Given the description of an element on the screen output the (x, y) to click on. 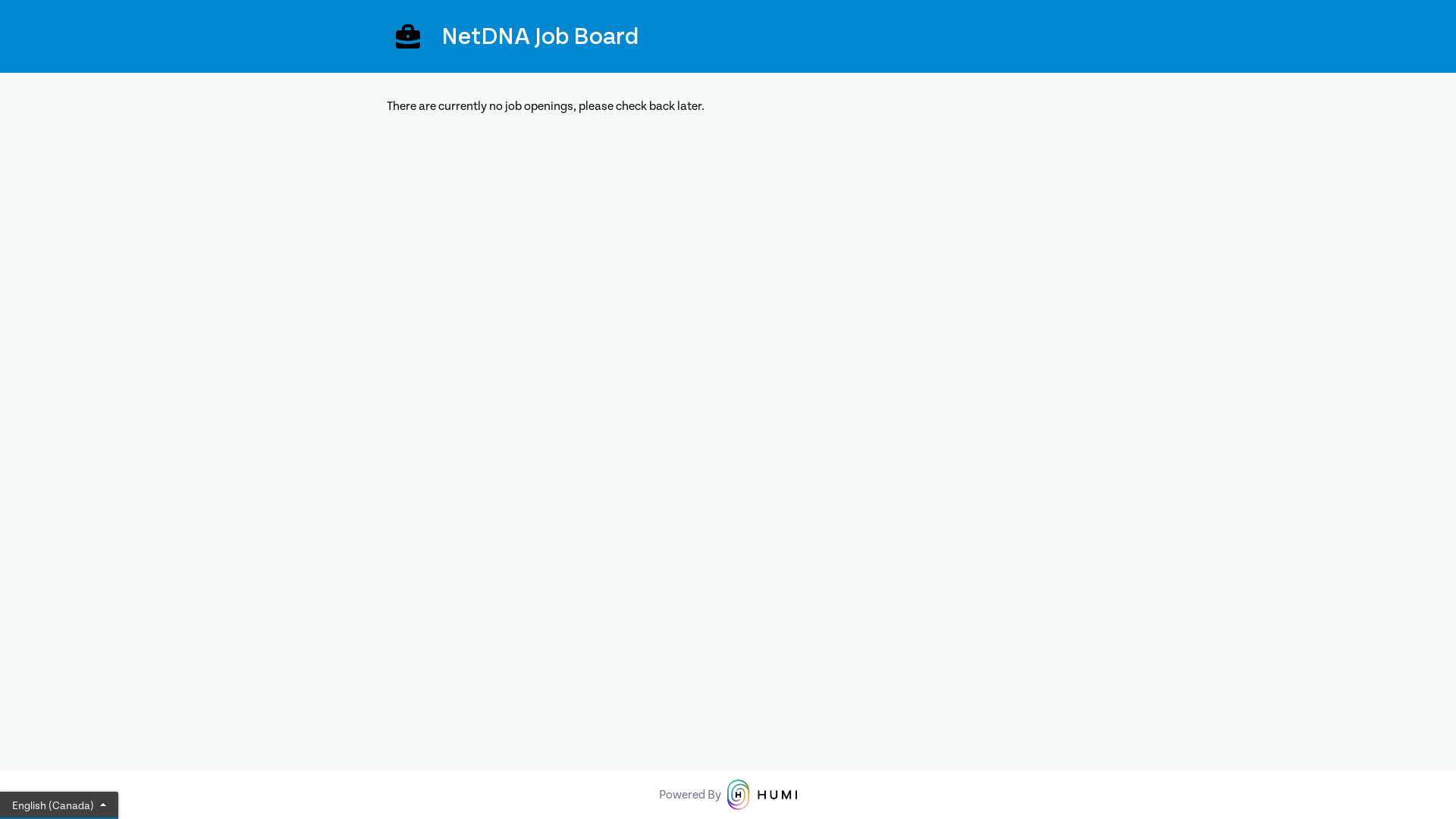
Powered By Element type: text (727, 794)
NetDNA Job Board Element type: text (727, 36)
